Given the description of an element on the screen output the (x, y) to click on. 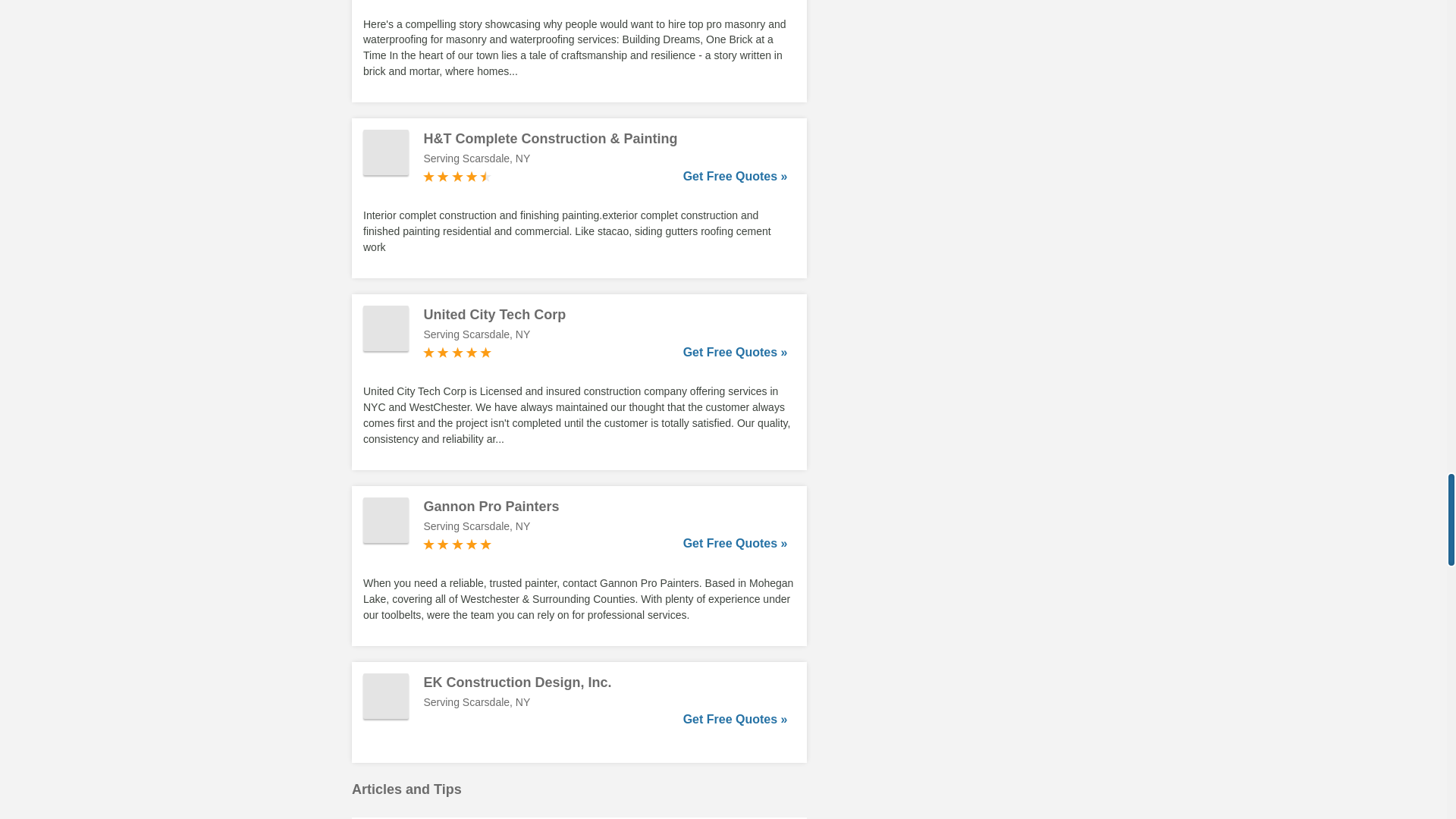
5 star rating (457, 544)
4.5 star rating (457, 176)
5 star rating (457, 352)
